Given the description of an element on the screen output the (x, y) to click on. 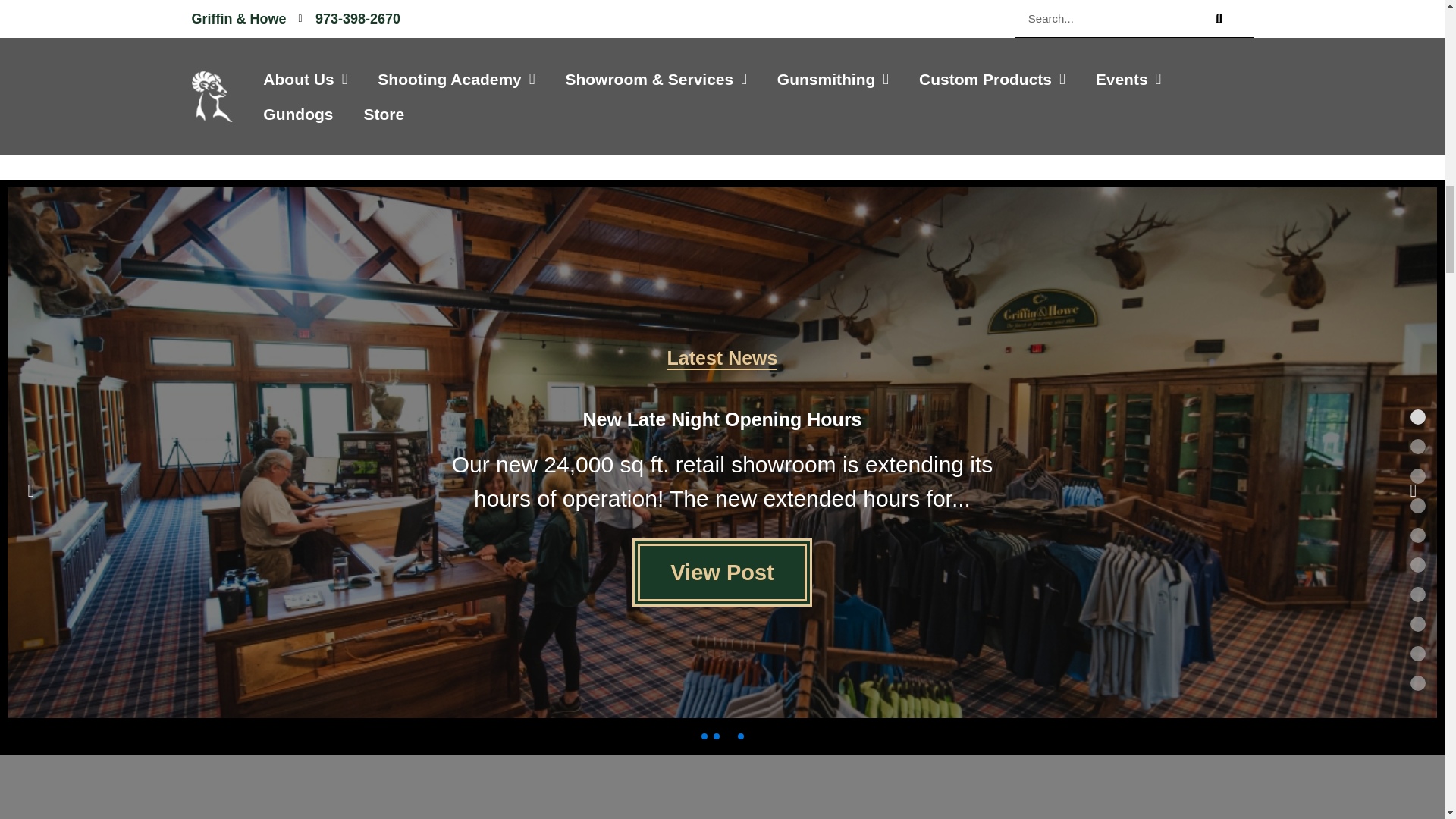
previous item (31, 490)
next item (1413, 490)
